Given the description of an element on the screen output the (x, y) to click on. 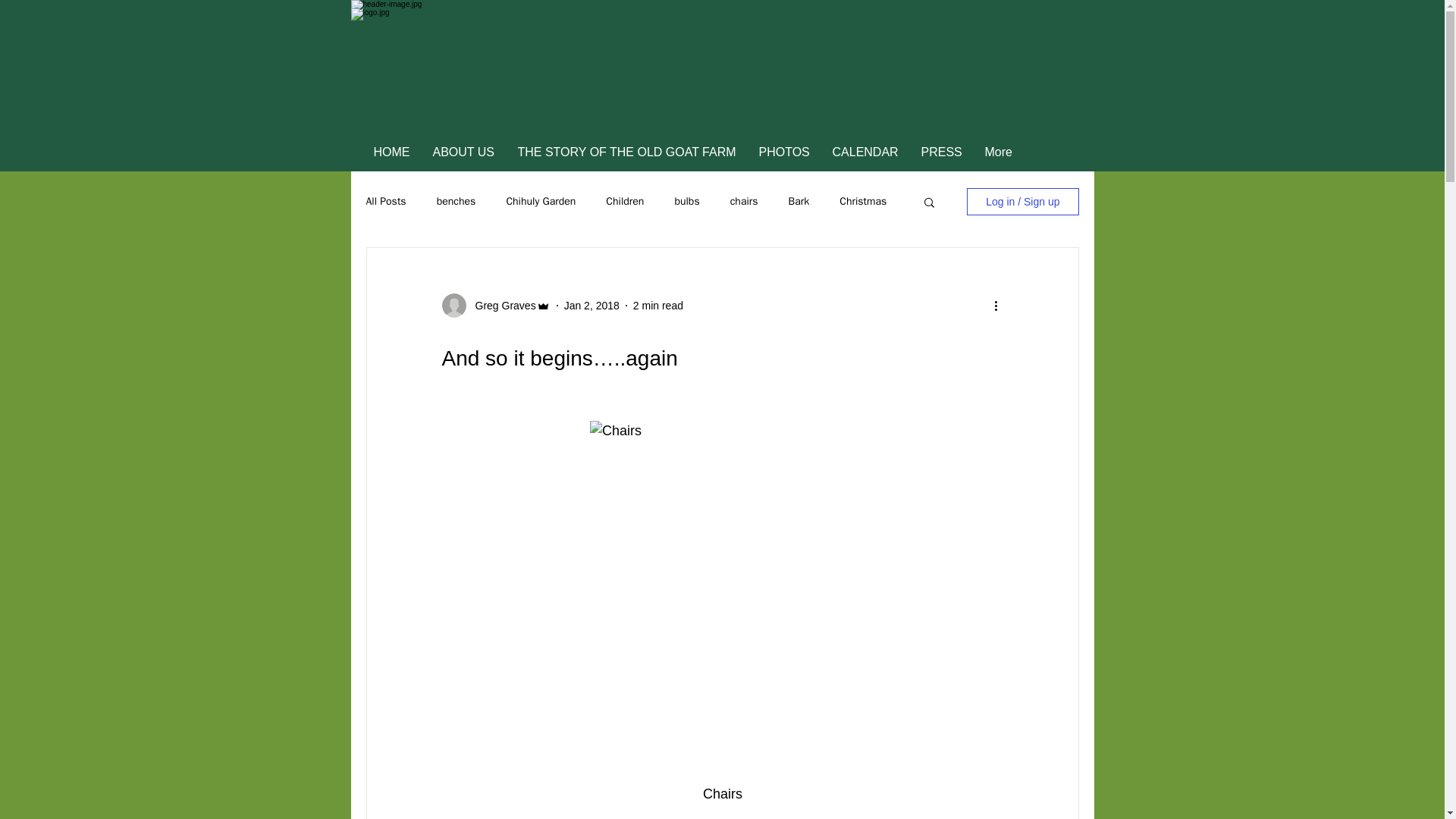
Bark (799, 201)
CALENDAR (864, 152)
2 min read (657, 304)
Greg Graves (500, 304)
THE STORY OF THE OLD GOAT FARM (627, 152)
Chihuly Garden (540, 201)
All Posts (385, 201)
Jan 2, 2018 (592, 304)
ABOUT US (464, 152)
bulbs (686, 201)
